Given the description of an element on the screen output the (x, y) to click on. 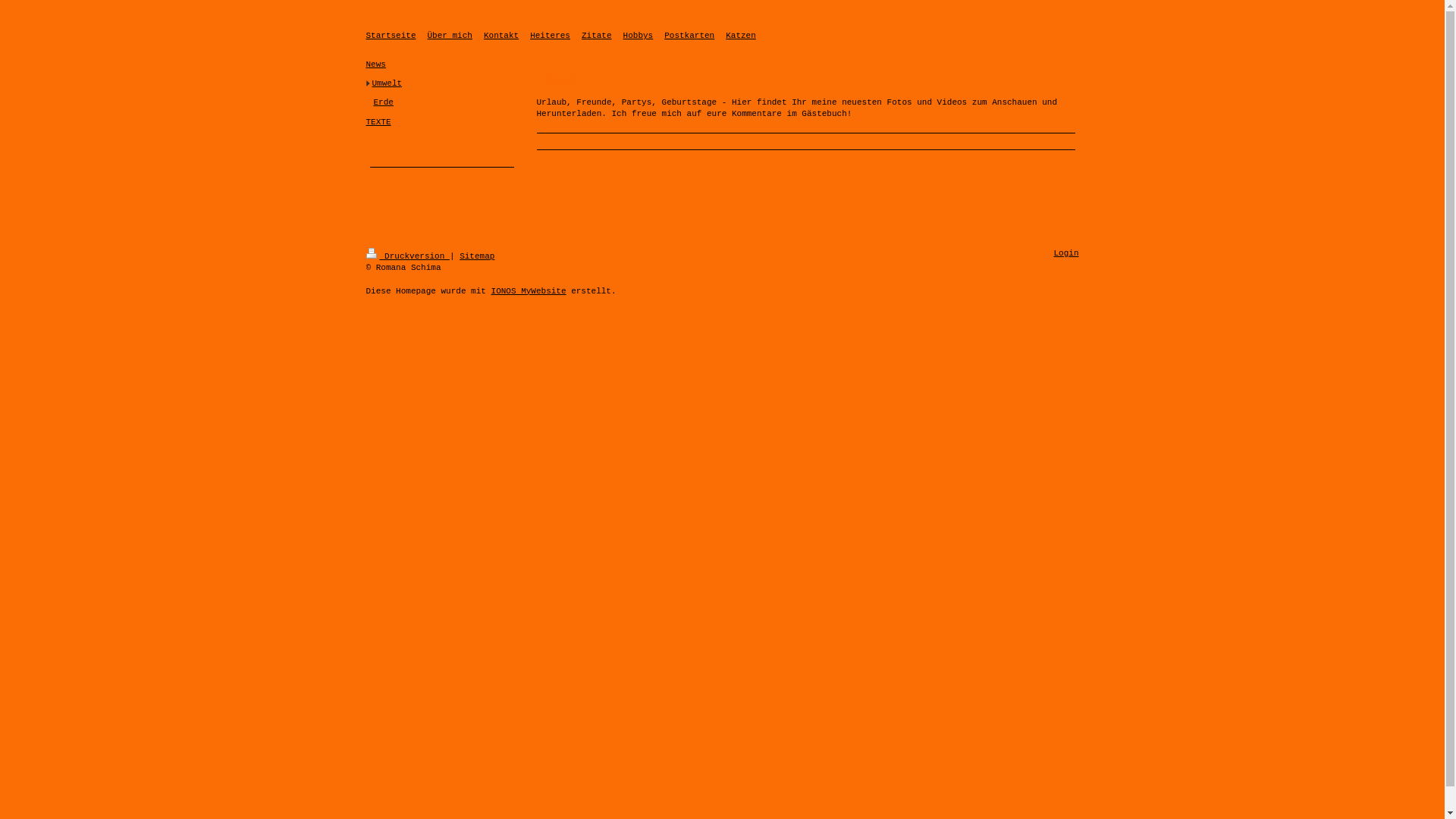
Sitemap Element type: text (476, 255)
Druckversion Element type: text (406, 255)
Heiteres Element type: text (550, 35)
Hobbys Element type: text (638, 35)
Erde Element type: text (444, 102)
Kontakt Element type: text (500, 35)
Startseite Element type: text (390, 35)
News Element type: text (441, 64)
Katzen Element type: text (740, 35)
Login Element type: text (1065, 252)
IONOS MyWebsite Element type: text (528, 290)
Umwelt Element type: text (444, 83)
Zitate Element type: text (596, 35)
TEXTE Element type: text (441, 122)
Postkarten Element type: text (689, 35)
